Given the description of an element on the screen output the (x, y) to click on. 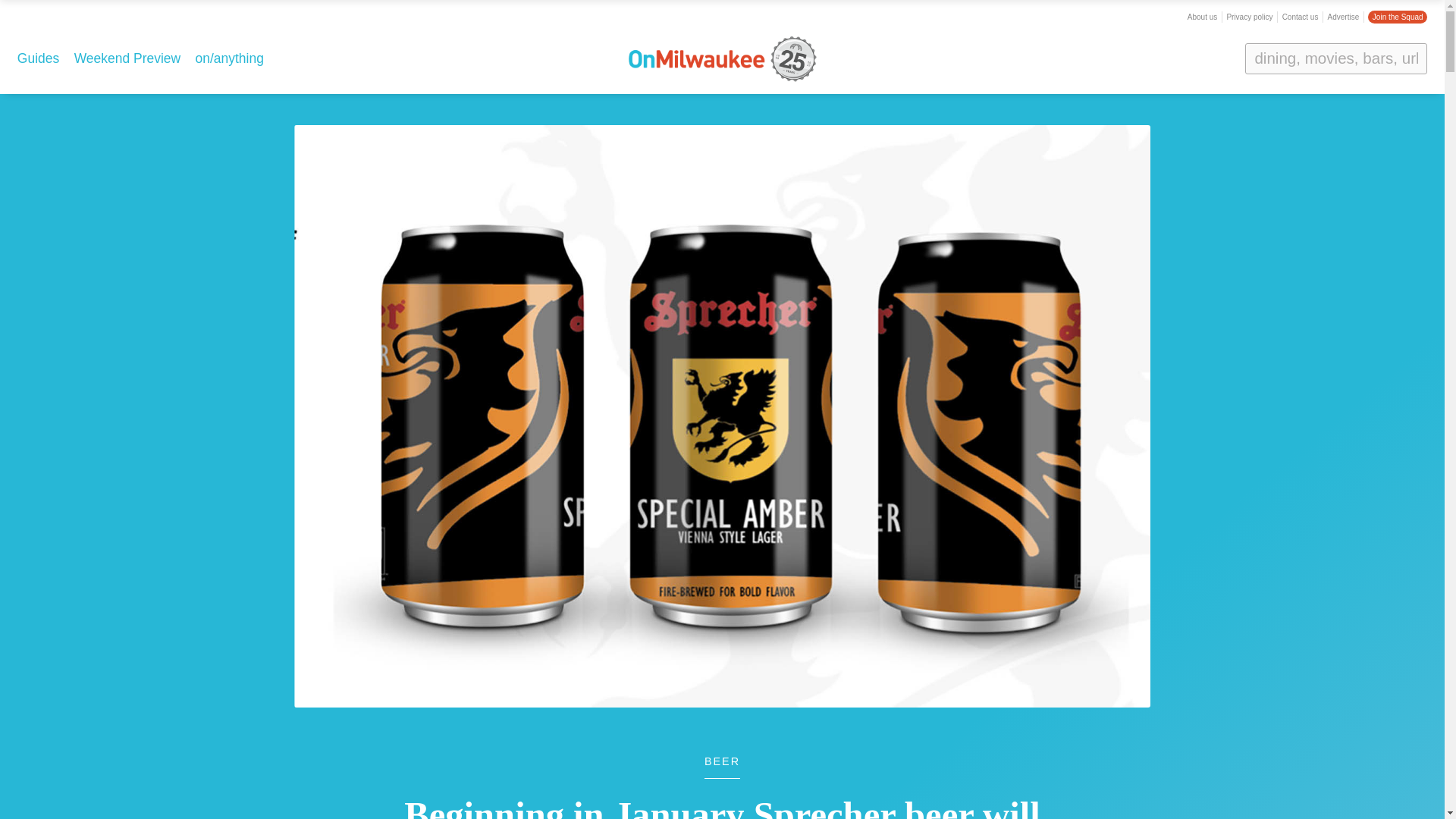
Join the Squad (1397, 16)
About us (1202, 17)
Advertise (1343, 17)
dining, movies, bars, urban spelunking (1335, 58)
BEER (721, 766)
Guides (38, 58)
Privacy policy (1248, 17)
dining, movies, bars, urban spelunking (1335, 58)
Weekend Preview (127, 58)
Contact us (1300, 17)
